Given the description of an element on the screen output the (x, y) to click on. 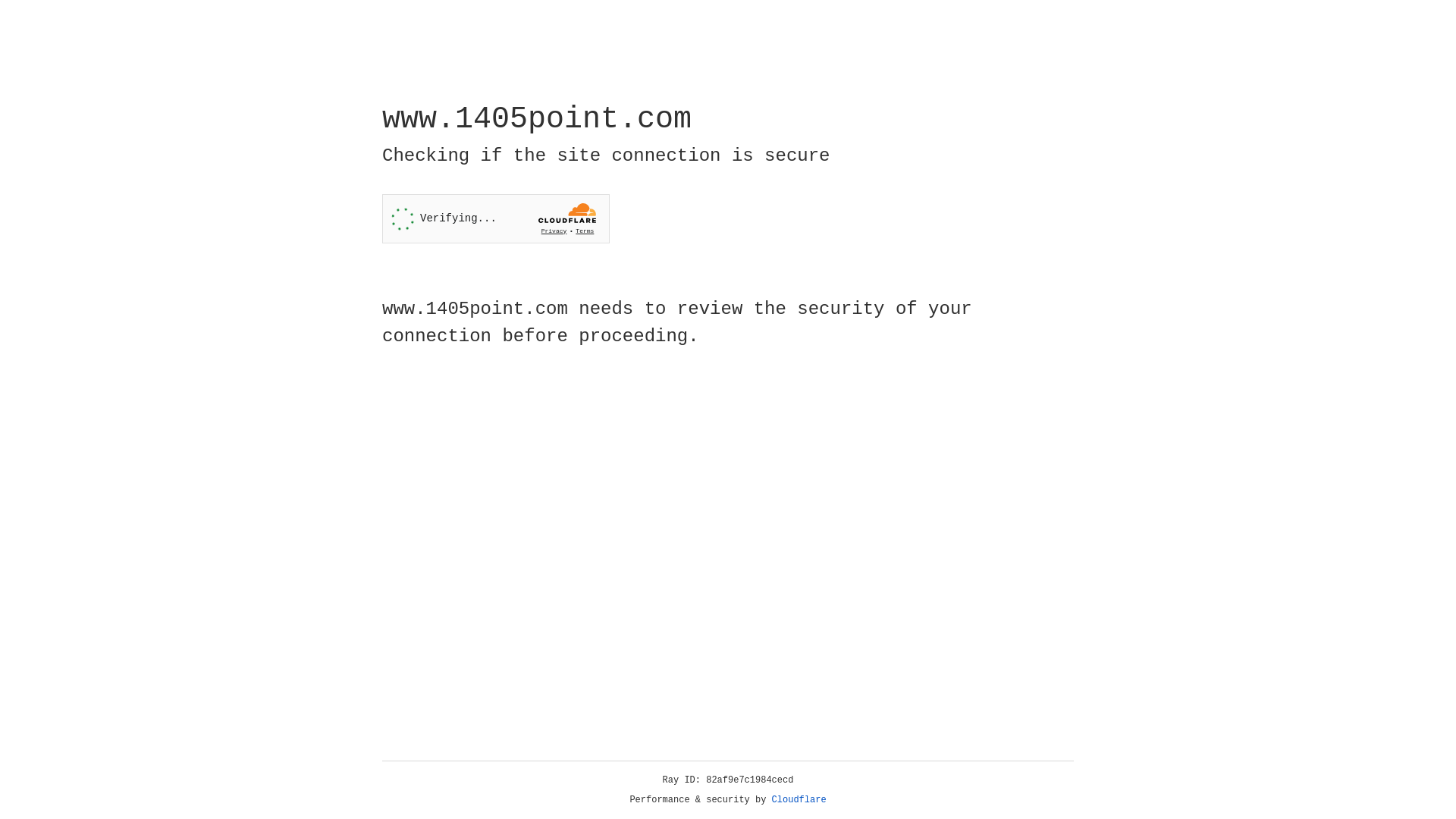
Cloudflare Element type: text (798, 799)
Widget containing a Cloudflare security challenge Element type: hover (495, 218)
